Given the description of an element on the screen output the (x, y) to click on. 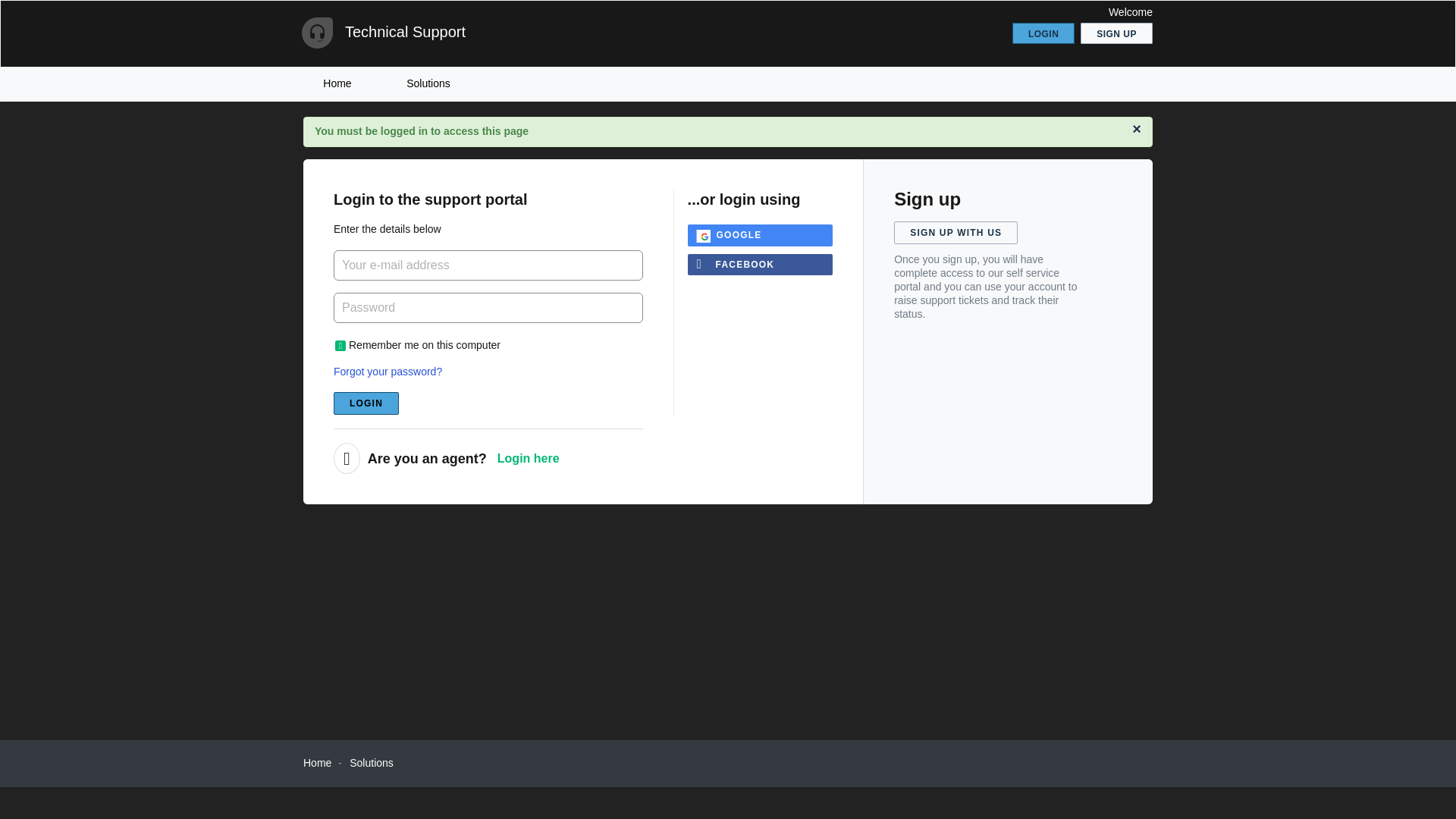
Solutions (428, 83)
1 (339, 346)
Home (336, 83)
SIGN UP (1116, 33)
Home (316, 762)
GOOGLE (759, 235)
Chat (1417, 779)
Login here (528, 458)
SIGN UP WITH US (955, 232)
Solutions (371, 762)
Forgot your password? (387, 371)
LOGIN (365, 403)
LOGIN (1043, 33)
FACEBOOK (759, 264)
